Given the description of an element on the screen output the (x, y) to click on. 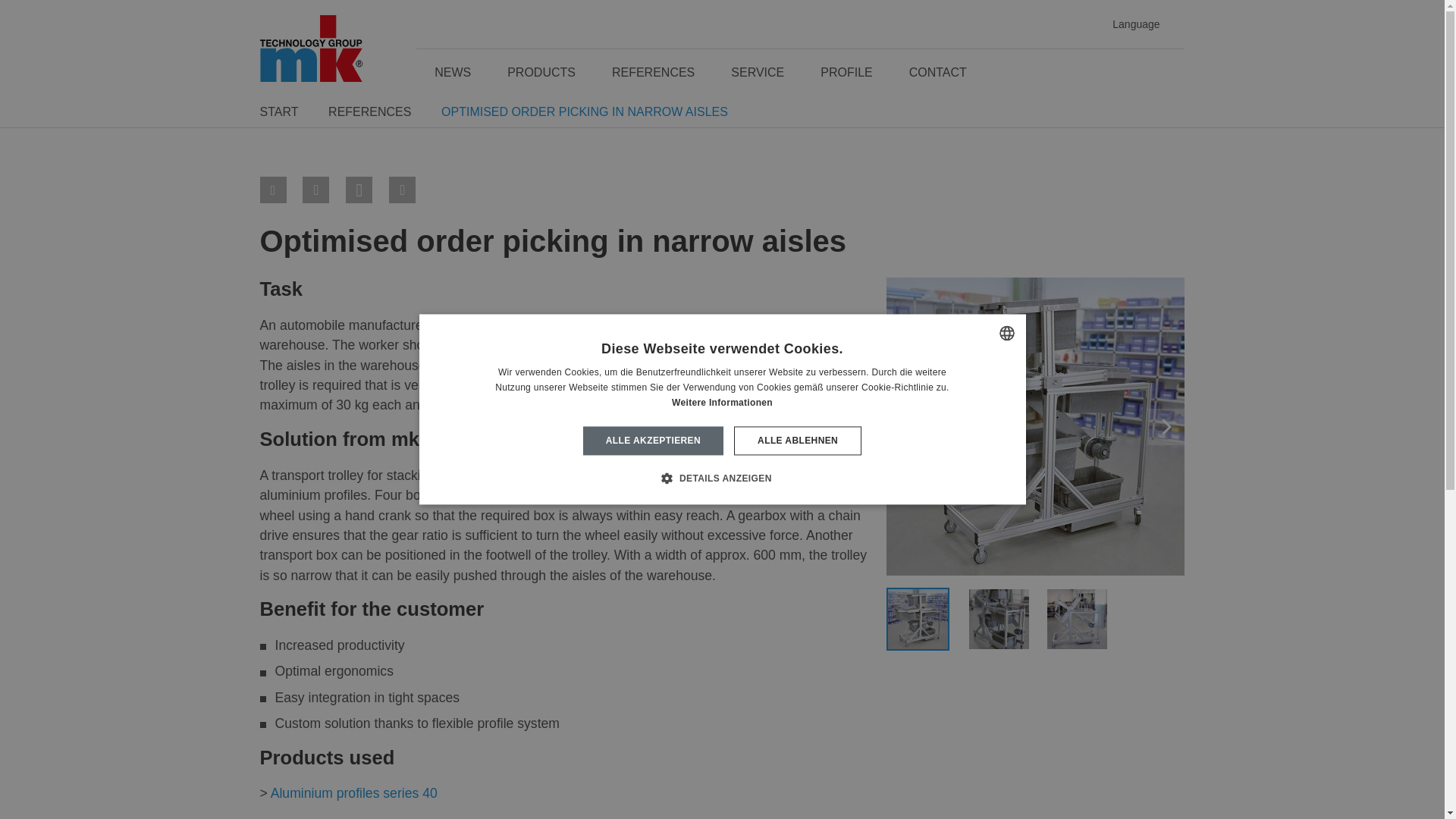
Search (1166, 73)
mk Technology Group (310, 47)
Language (1129, 24)
Language Navigation (1129, 24)
REFERENCES (653, 72)
PRODUCTS (541, 72)
NEWS (452, 72)
